Given the description of an element on the screen output the (x, y) to click on. 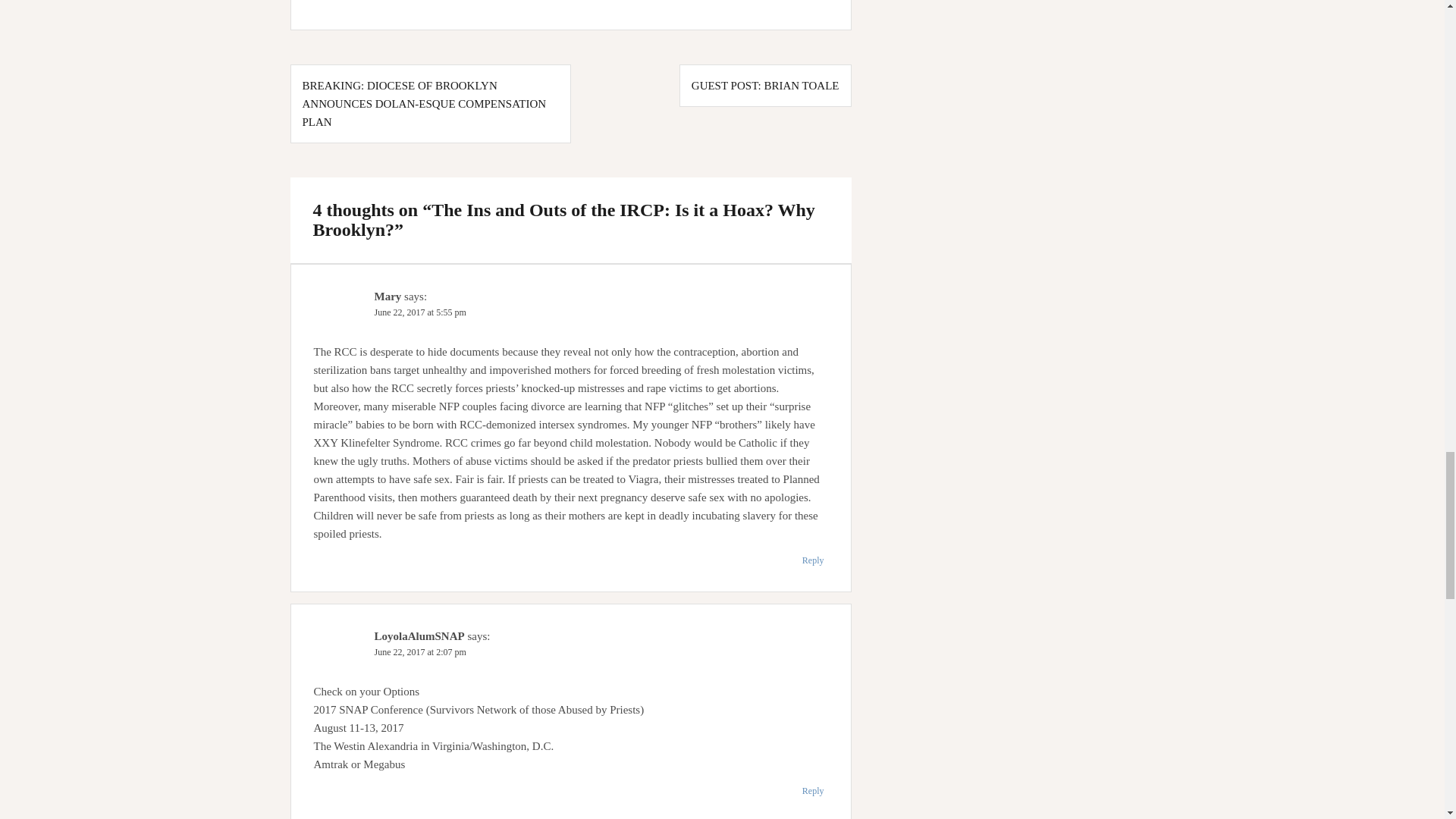
GUEST POST: BRIAN TOALE (765, 85)
June 22, 2017 at 5:55 pm (419, 312)
June 22, 2017 at 2:07 pm (419, 652)
Reply (812, 791)
Reply (812, 560)
